Given the description of an element on the screen output the (x, y) to click on. 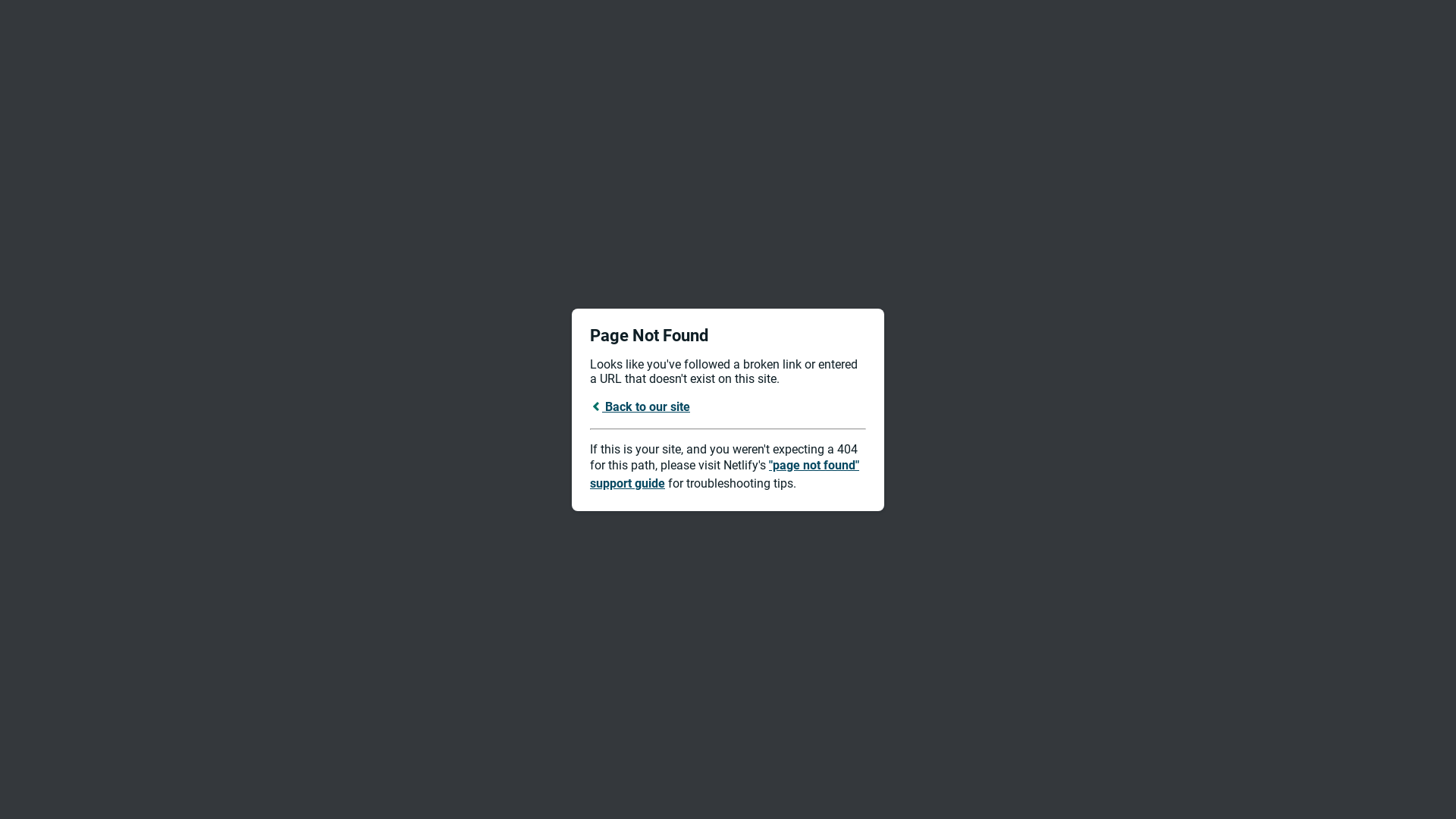
"page not found" support guide Element type: text (724, 474)
Back to our site Element type: text (639, 405)
